Given the description of an element on the screen output the (x, y) to click on. 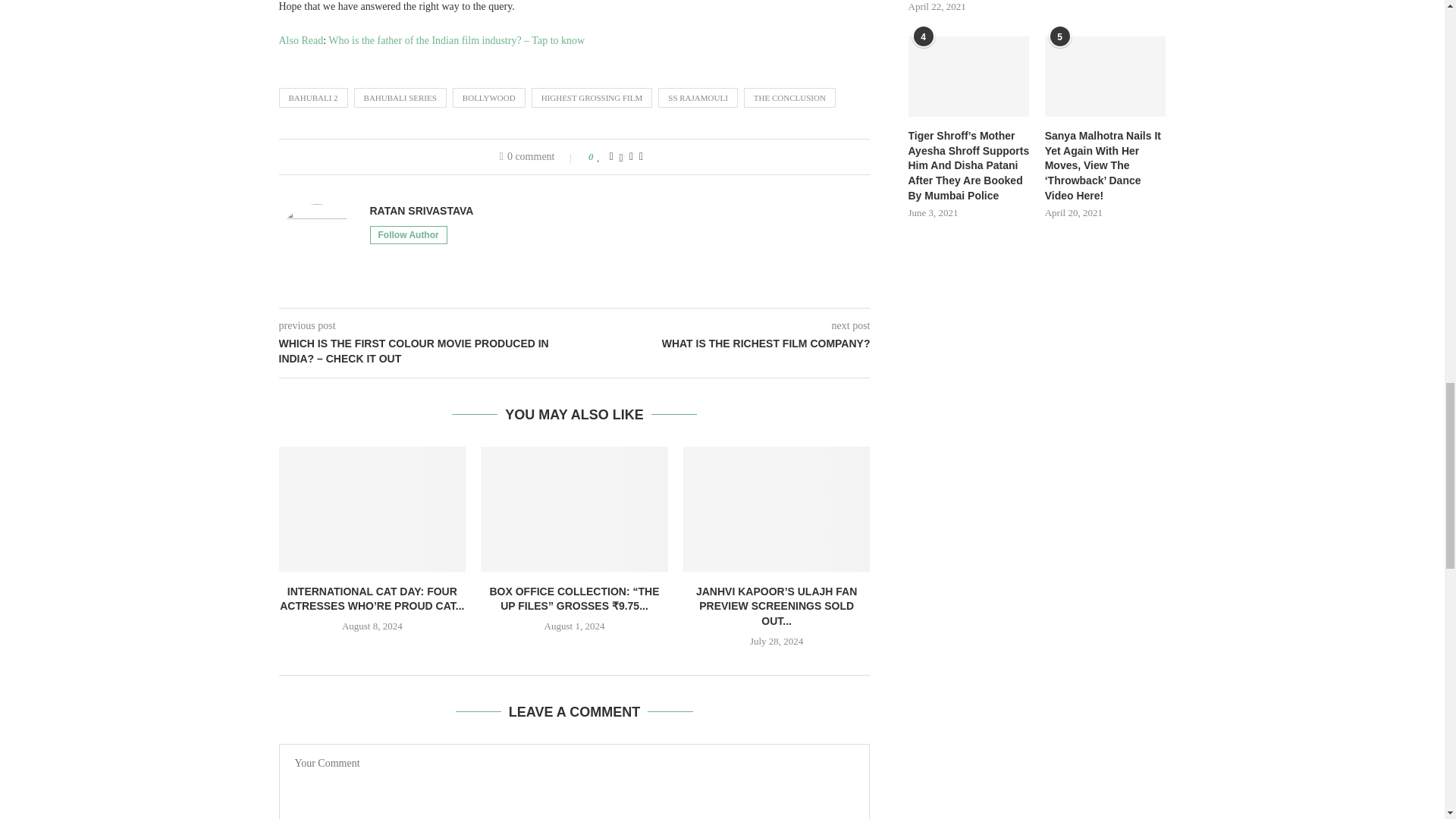
BAHUBALI 2 (313, 97)
HIGHEST GROSSING FILM (591, 97)
BOLLYWOOD (488, 97)
BAHUBALI SERIES (399, 97)
THE CONCLUSION (789, 97)
Also Read (301, 40)
SS RAJAMOULI (698, 97)
Author Ratan Srivastava (421, 210)
